Given the description of an element on the screen output the (x, y) to click on. 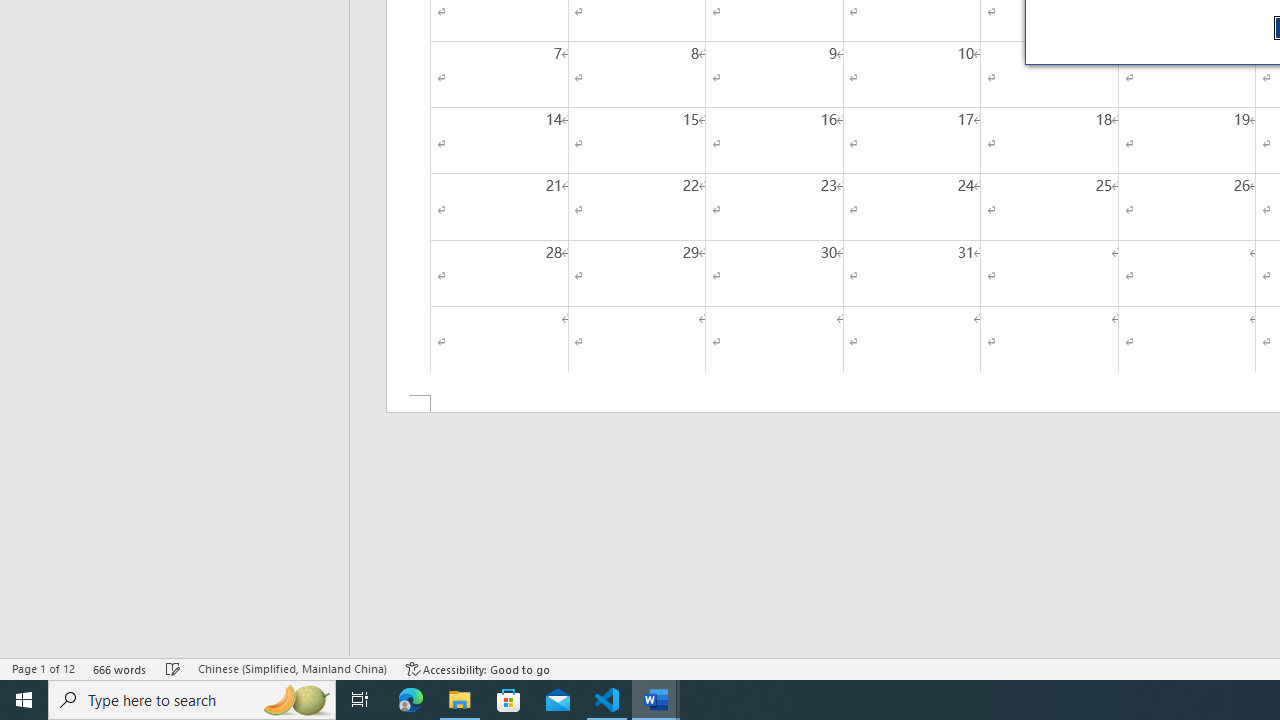
Microsoft Edge (411, 699)
Accessibility Checker Accessibility: Good to go (478, 668)
Task View (359, 699)
Start (24, 699)
Page Number Page 1 of 12 (43, 668)
Search highlights icon opens search home window (295, 699)
Type here to search (191, 699)
Word - 2 running windows (656, 699)
File Explorer - 1 running window (460, 699)
Microsoft Store (509, 699)
Language Chinese (Simplified, Mainland China) (292, 668)
Word Count 666 words (119, 668)
Visual Studio Code - 1 running window (607, 699)
